Given the description of an element on the screen output the (x, y) to click on. 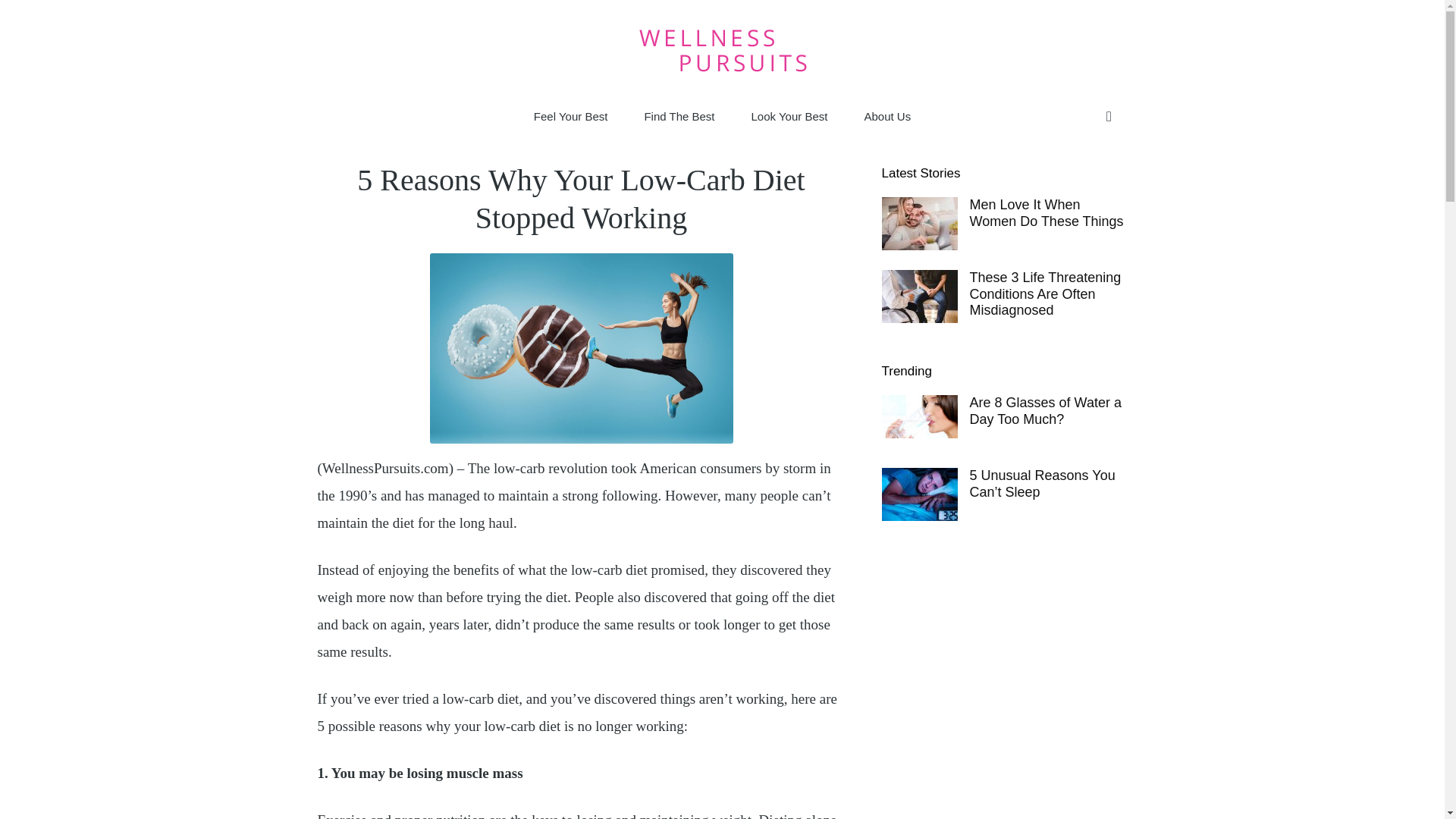
Find The Best (679, 116)
Search (1077, 177)
About Us (886, 116)
Men Love It When Women Do These Things (1045, 213)
Feel Your Best (570, 116)
5 Reasons Why Your Low-Carb Diet Stopped Working (580, 348)
Look Your Best (789, 116)
